Given the description of an element on the screen output the (x, y) to click on. 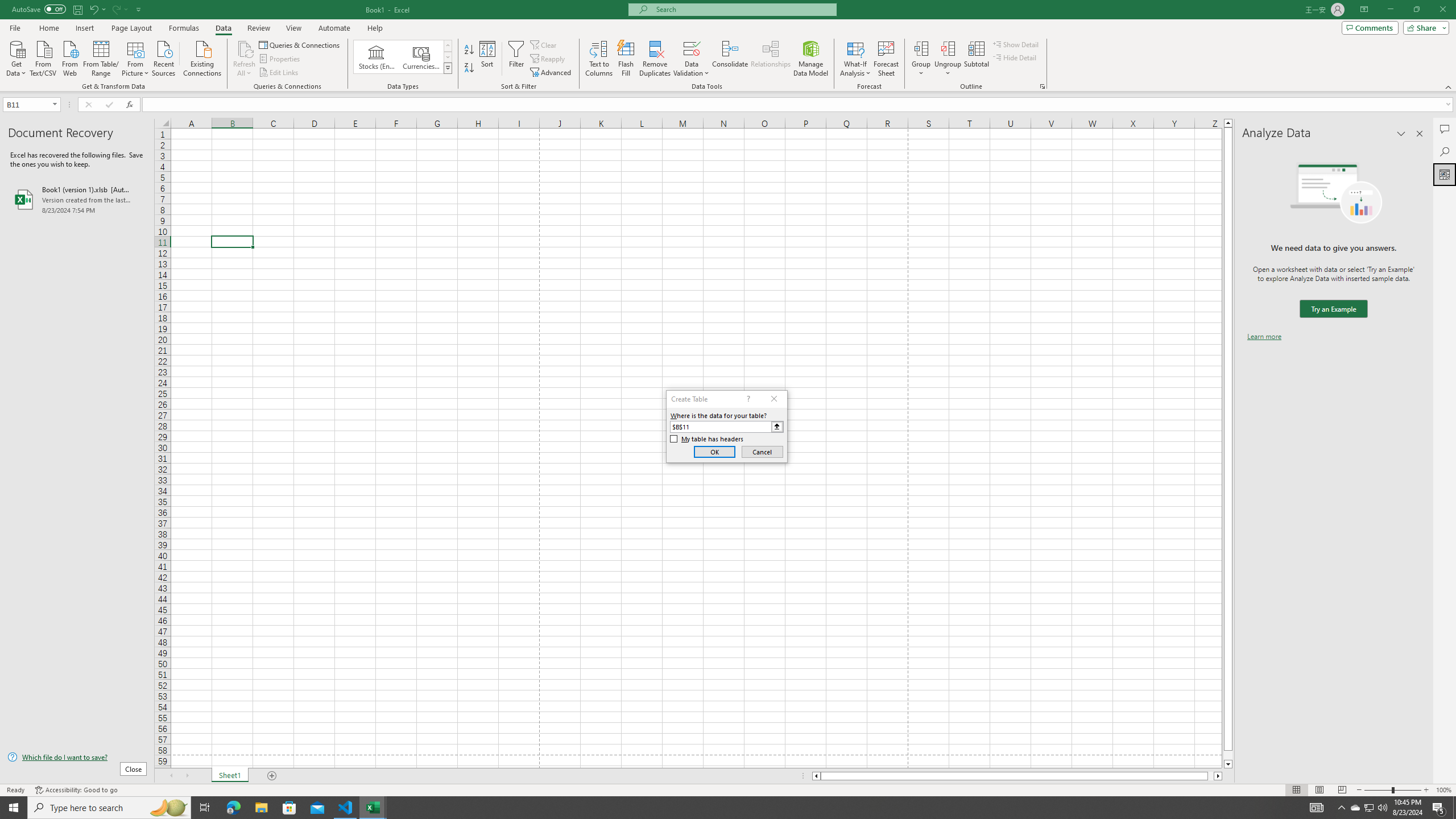
Recent Sources (163, 57)
From Text/CSV (43, 57)
Data Types (448, 67)
Advanced... (551, 72)
